Given the description of an element on the screen output the (x, y) to click on. 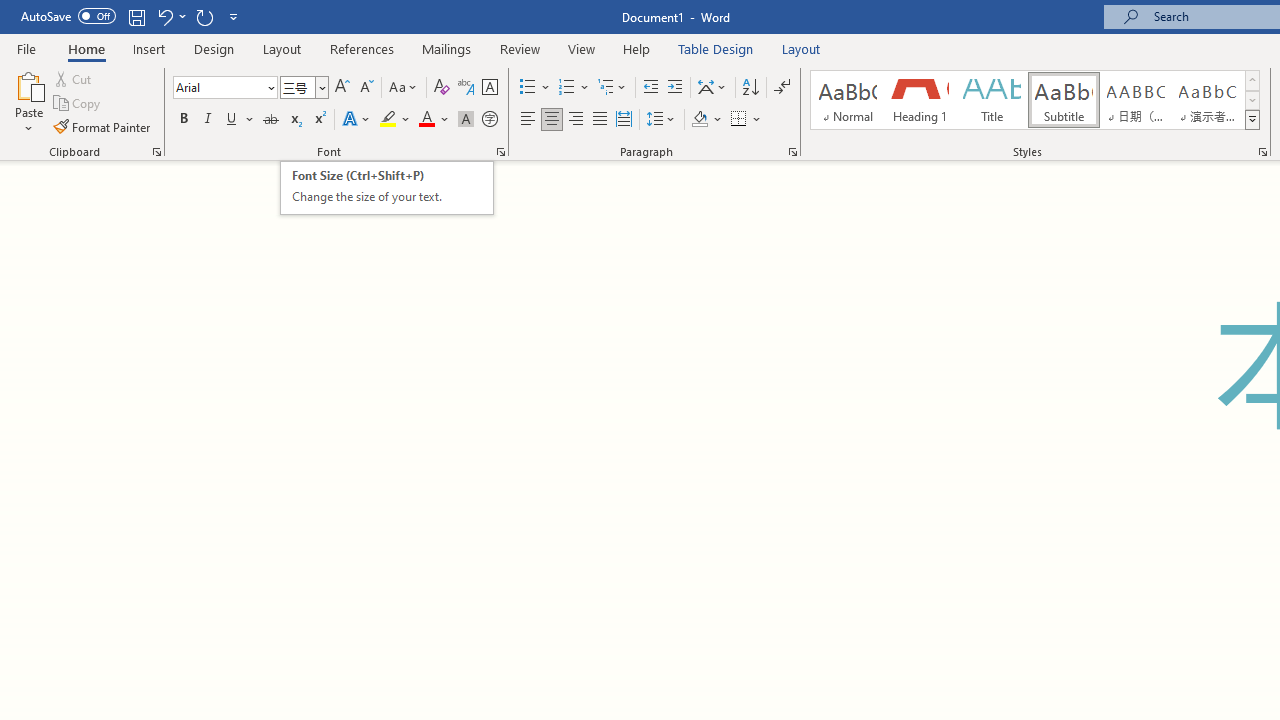
Undo Paste (170, 15)
